Given the description of an element on the screen output the (x, y) to click on. 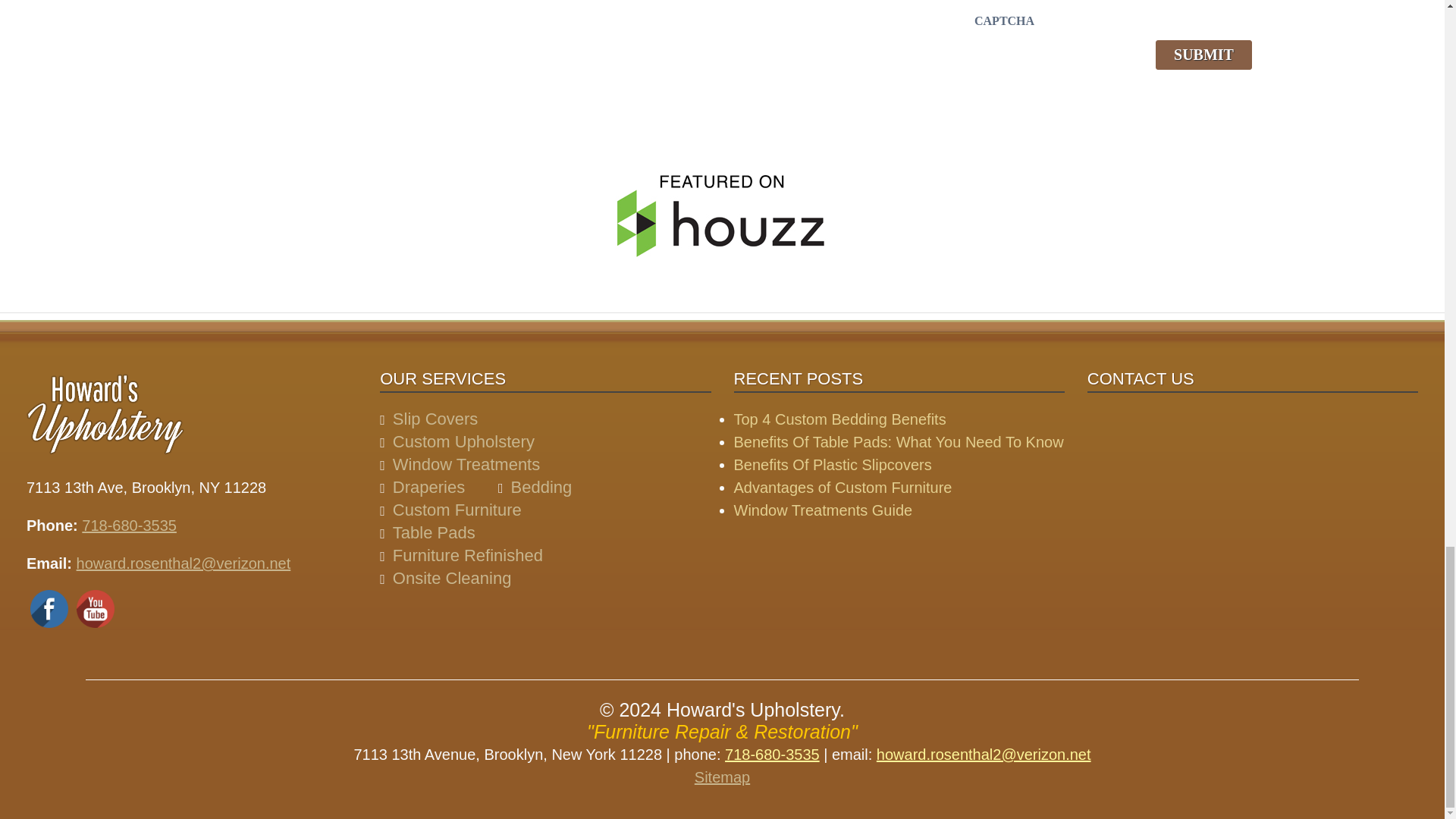
Custom Furniture (457, 509)
Submit (1204, 54)
Window Treatments (466, 464)
Bedding (541, 486)
Furniture Refinished (468, 555)
Table Pads (434, 532)
718-680-3535 (128, 524)
Draperies (428, 486)
Submit (1204, 54)
Onsite Cleaning (452, 578)
